Given the description of an element on the screen output the (x, y) to click on. 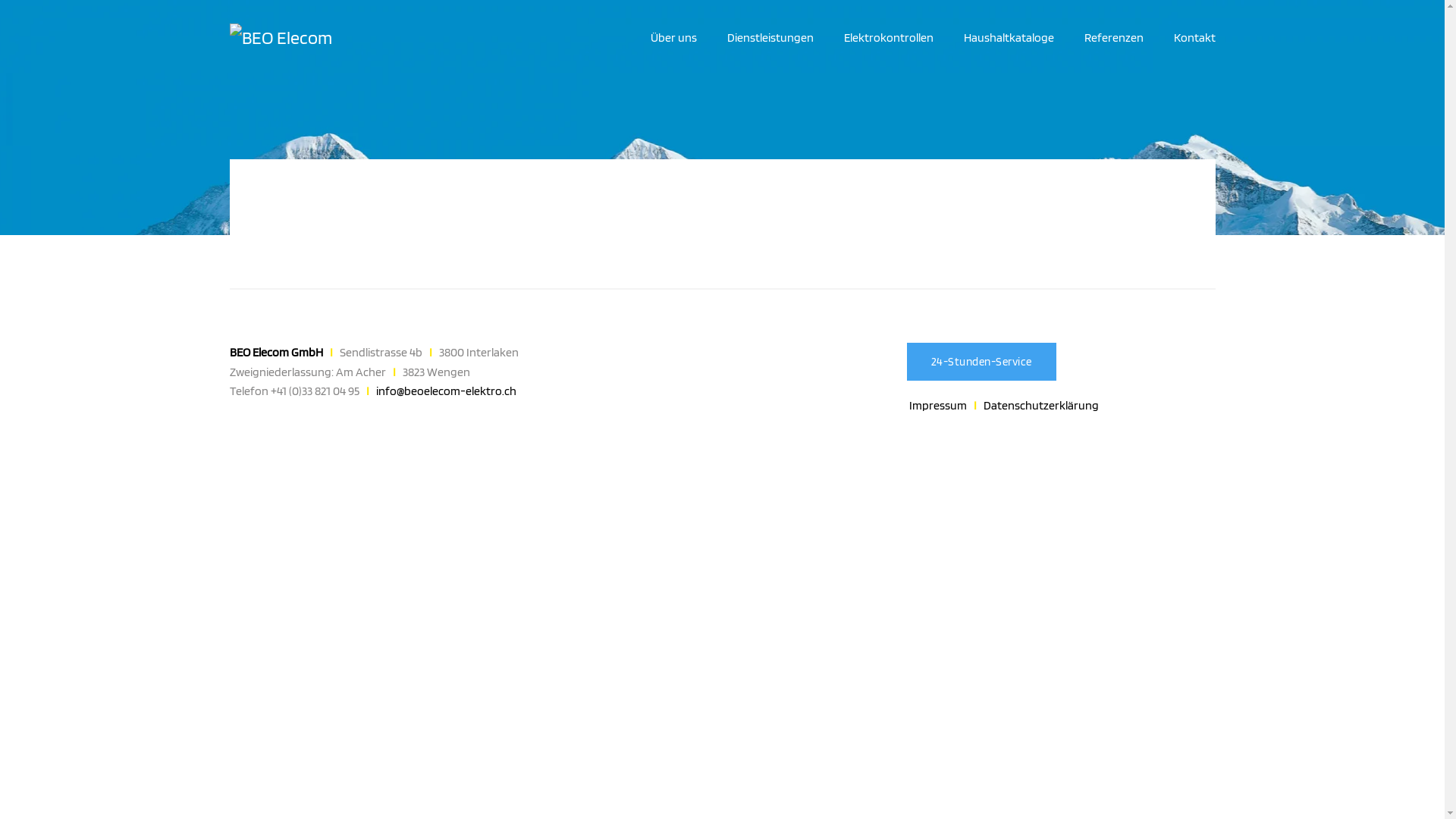
info@beoelecom-elektro.ch Element type: text (446, 390)
Referenzen Element type: text (1113, 37)
Kontakt Element type: text (1194, 37)
Impressum Element type: text (937, 405)
Haushaltkataloge Element type: text (1007, 37)
Elektrokontrollen Element type: text (887, 37)
24-Stunden-Service Element type: text (981, 361)
Dienstleistungen Element type: text (769, 37)
